Given the description of an element on the screen output the (x, y) to click on. 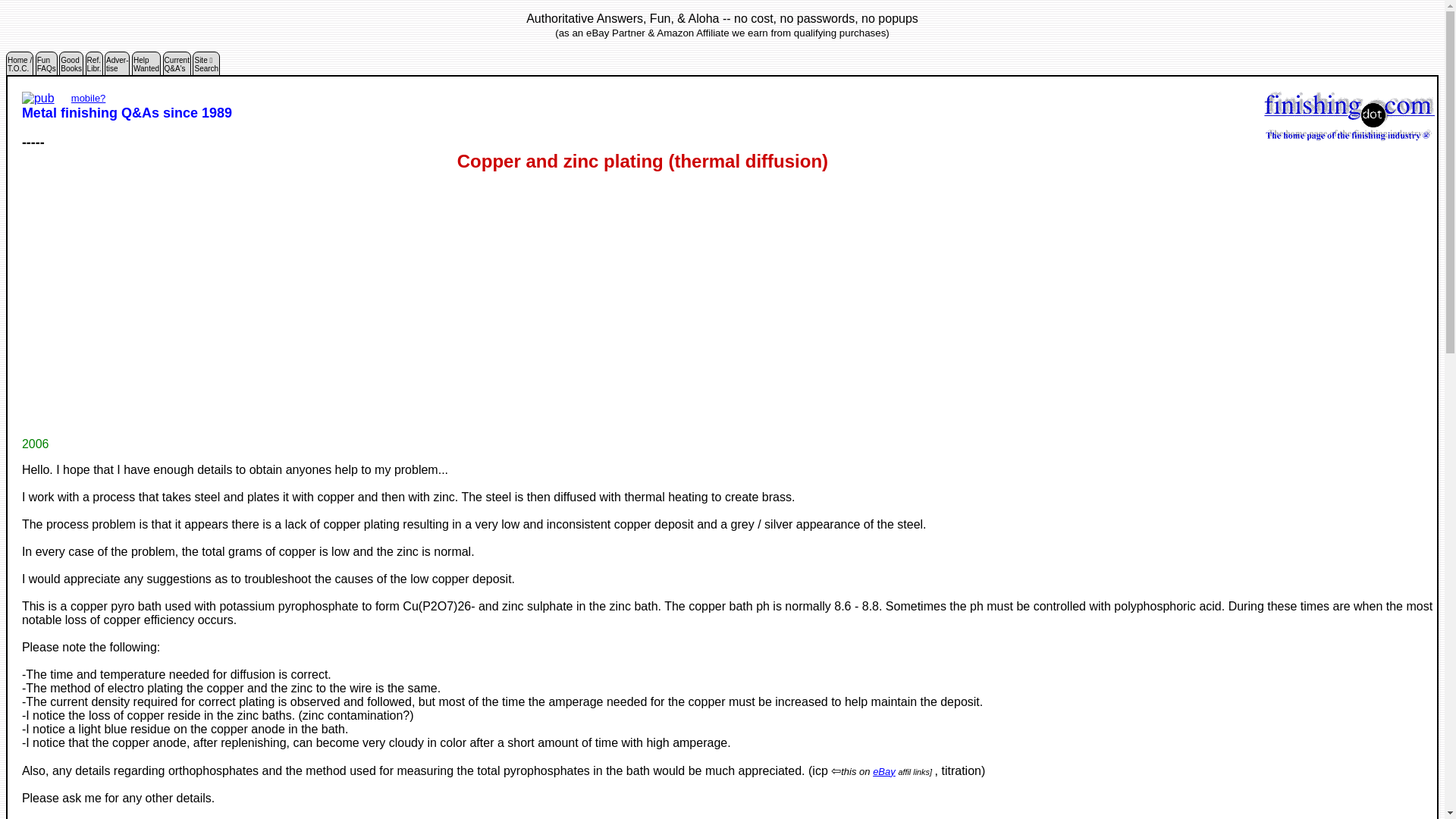
eBay (883, 771)
Advertise on the world's premier metal finishing site (116, 66)
Recommended metal finishing books (46, 66)
Search the site (70, 66)
mobile? (205, 66)
Good jobs are going begging (88, 98)
Advertisement (116, 66)
